Given the description of an element on the screen output the (x, y) to click on. 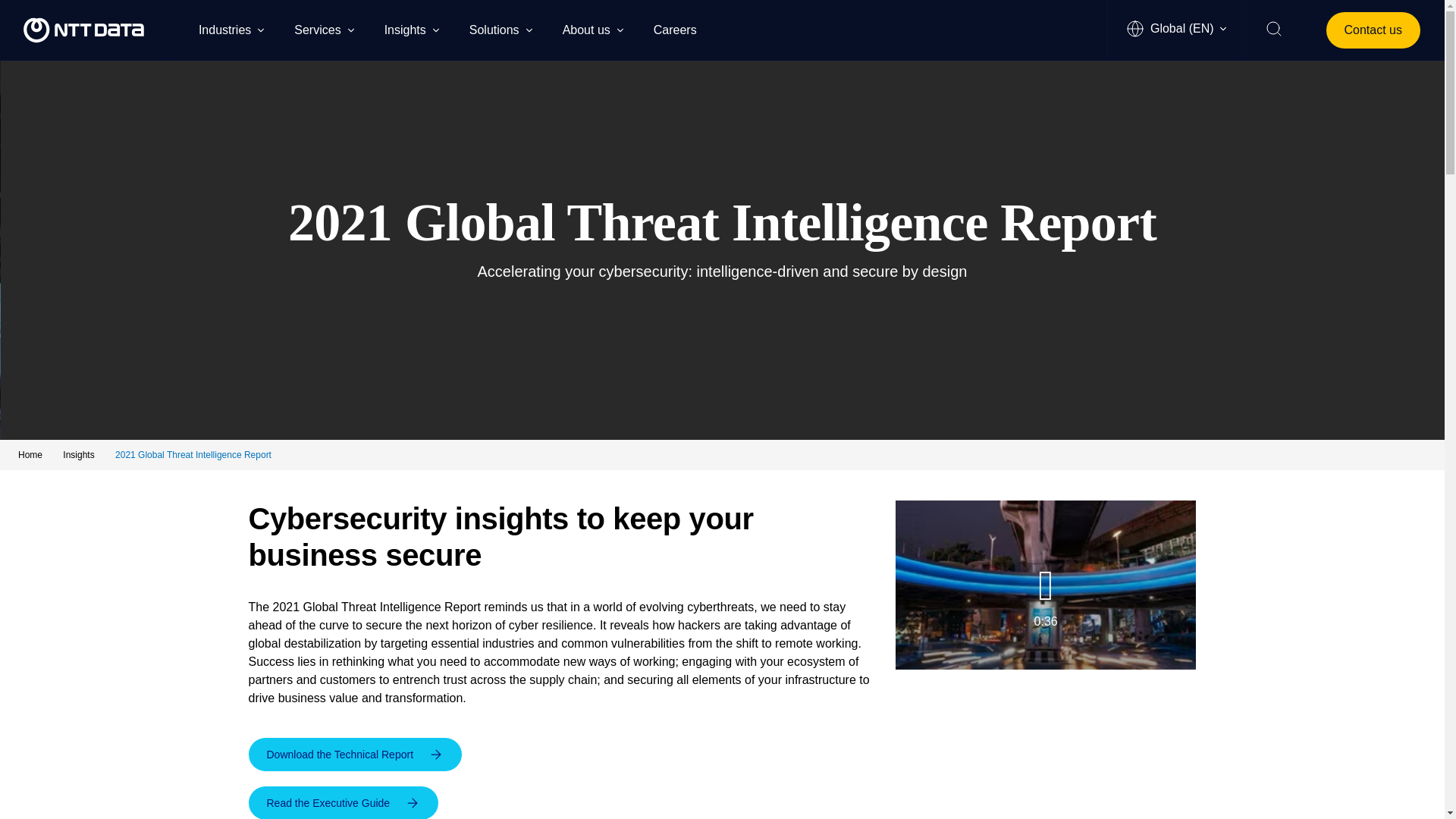
Services (323, 29)
Careers (681, 29)
Home (31, 454)
Industries (230, 29)
Insights (79, 454)
Contact us (1373, 30)
Insights (411, 29)
Download the Technical Report (355, 754)
Read the Executive Guide (343, 802)
Solutions (500, 29)
About us (592, 29)
